Given the description of an element on the screen output the (x, y) to click on. 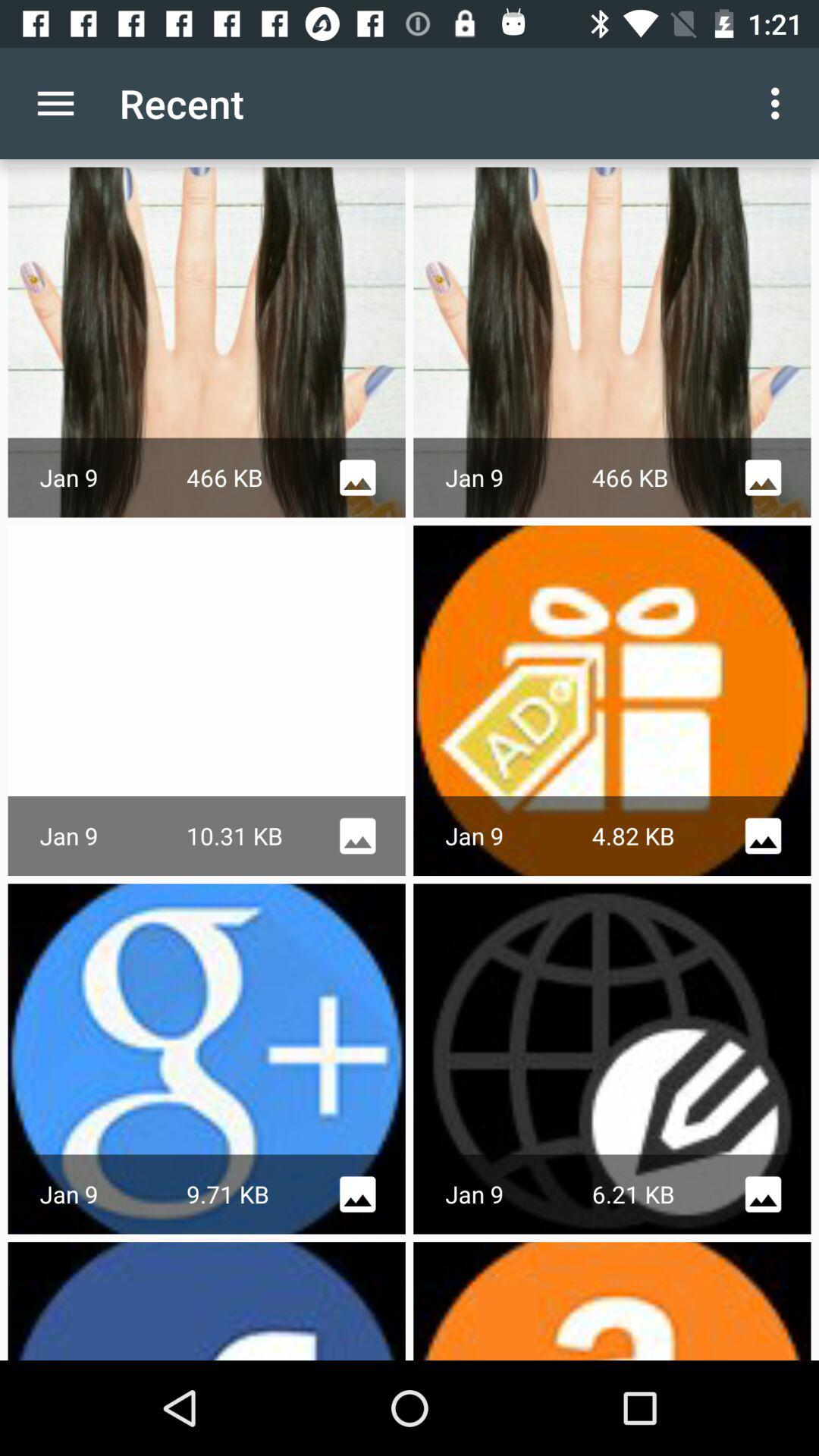
turn on app to the right of the recent item (779, 103)
